Given the description of an element on the screen output the (x, y) to click on. 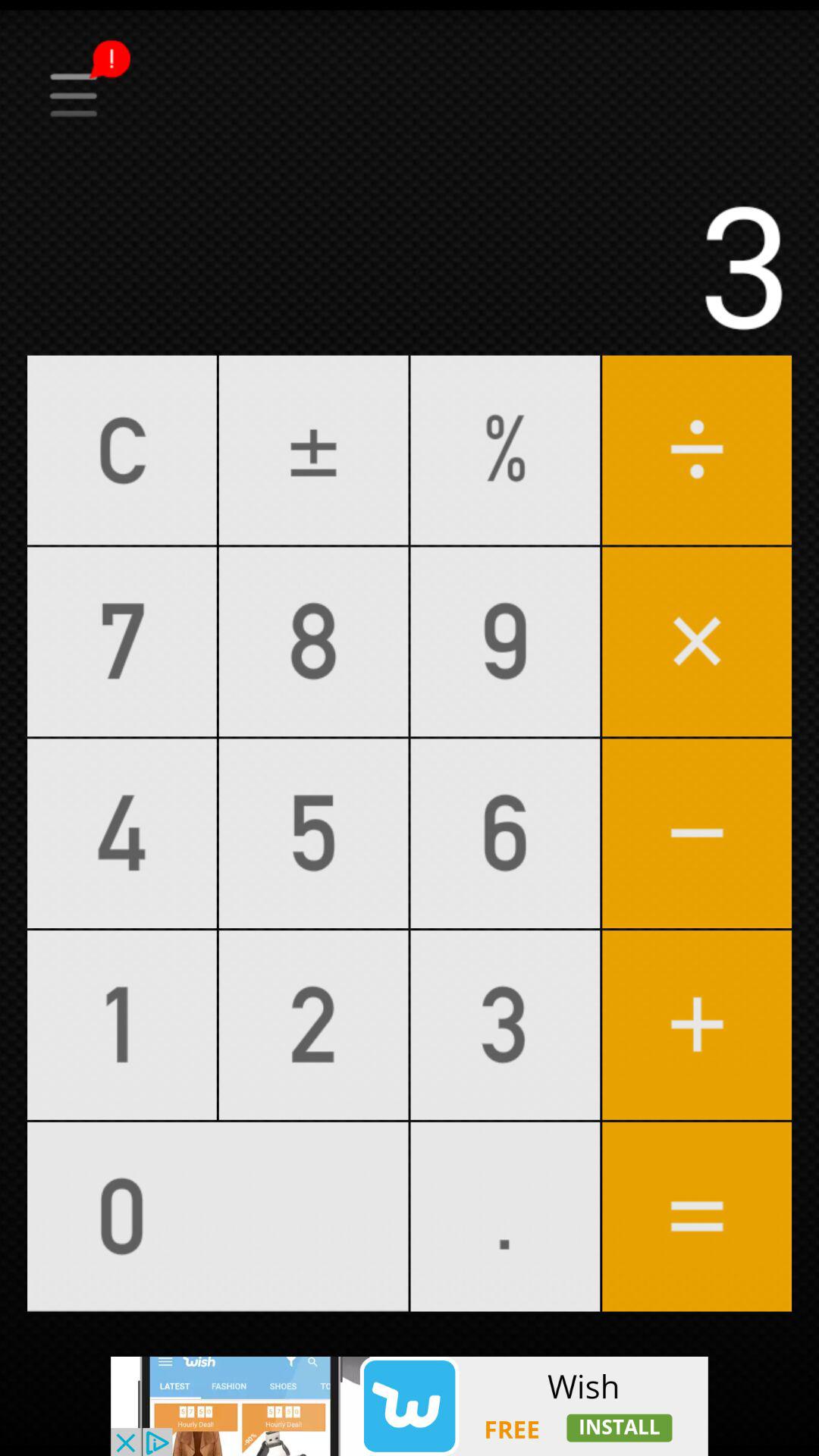
advertisement (409, 1406)
